Given the description of an element on the screen output the (x, y) to click on. 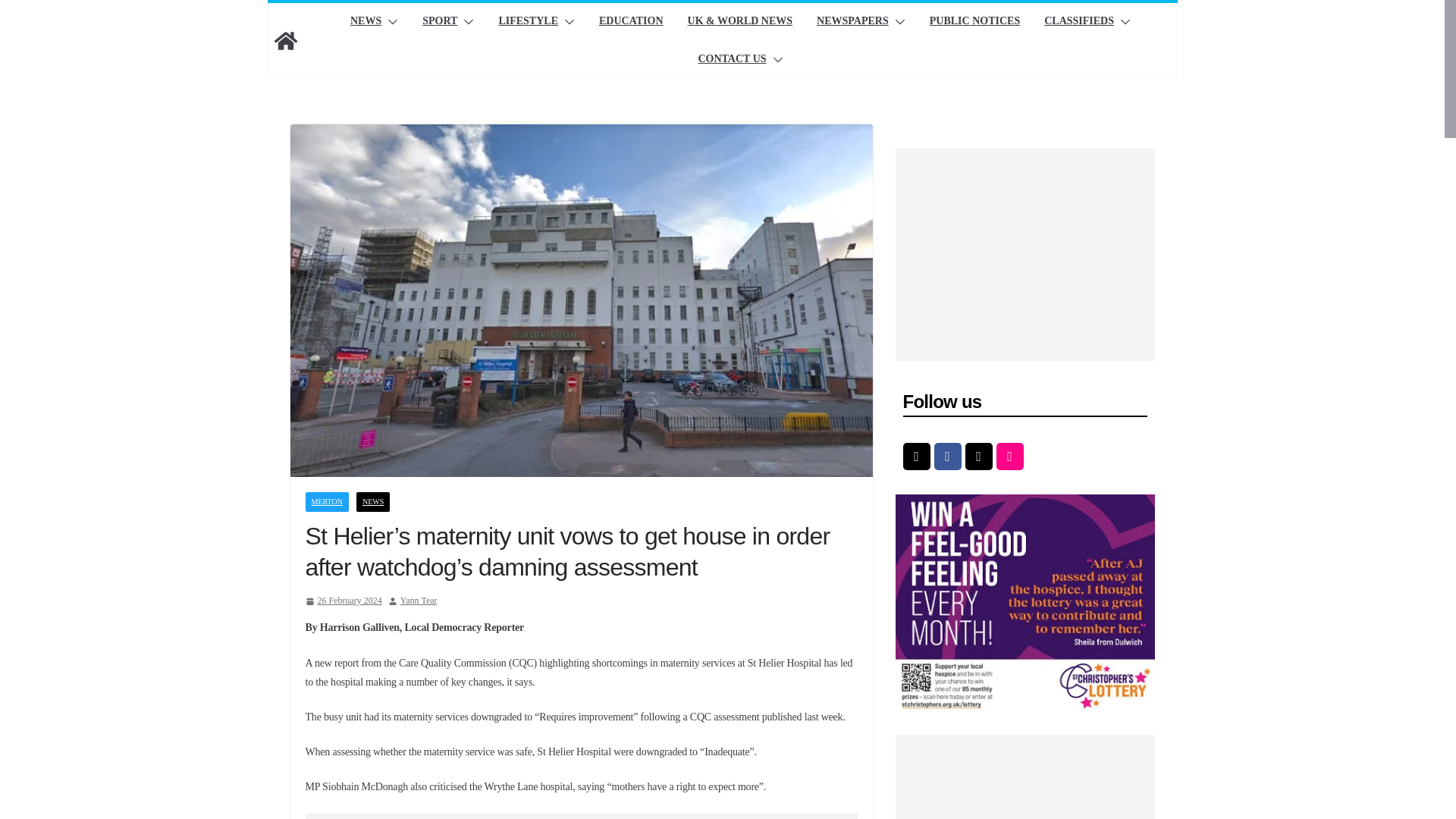
13:53 (342, 600)
SPORT (439, 21)
Yann Tear (419, 600)
South London News (284, 40)
NEWS (365, 21)
LIFESTYLE (527, 21)
